Given the description of an element on the screen output the (x, y) to click on. 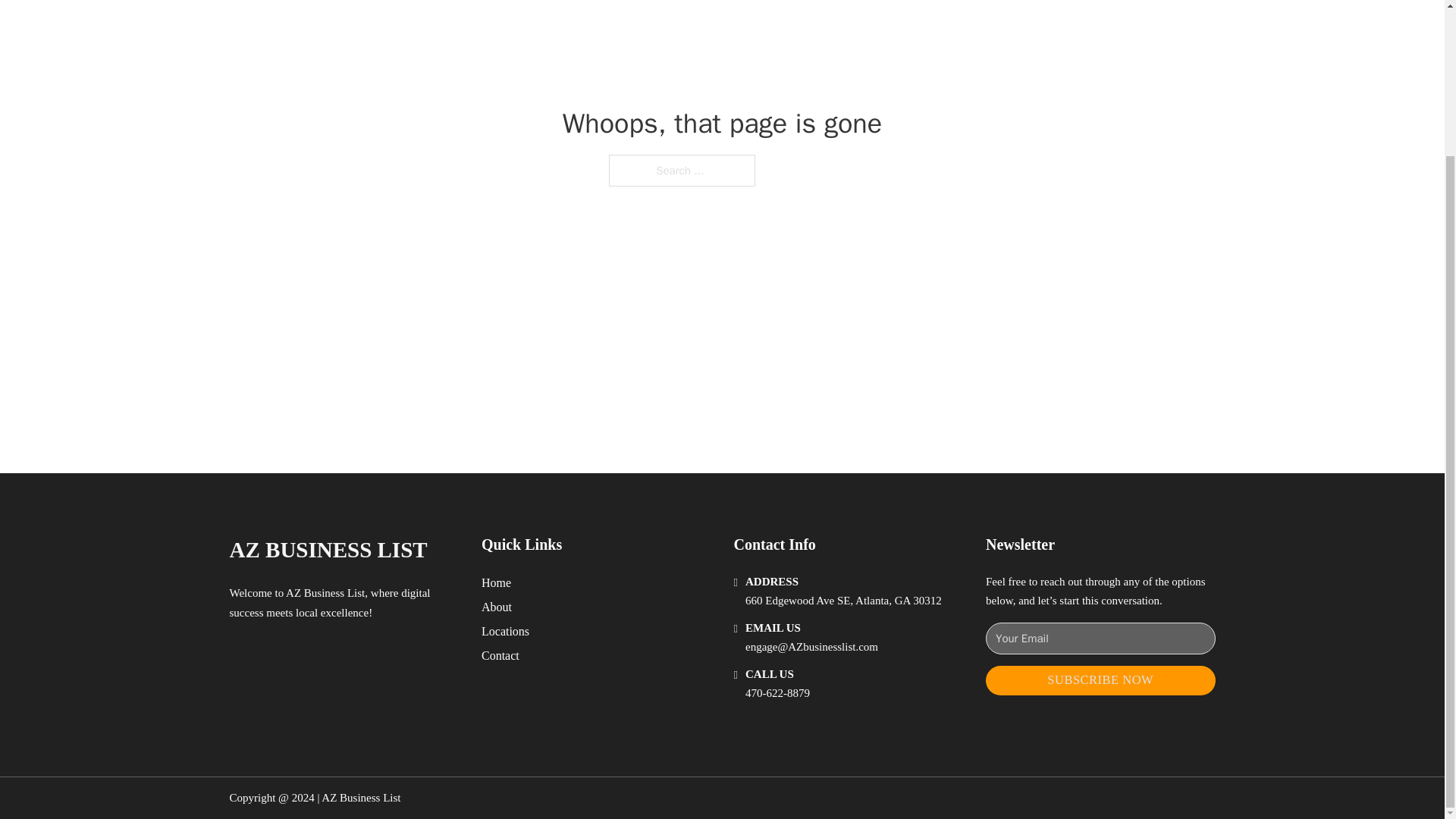
AZ BUSINESS LIST (327, 549)
About (496, 607)
470-622-8879 (777, 693)
Home (496, 582)
Locations (505, 630)
SUBSCRIBE NOW (1100, 680)
Contact (500, 655)
